Given the description of an element on the screen output the (x, y) to click on. 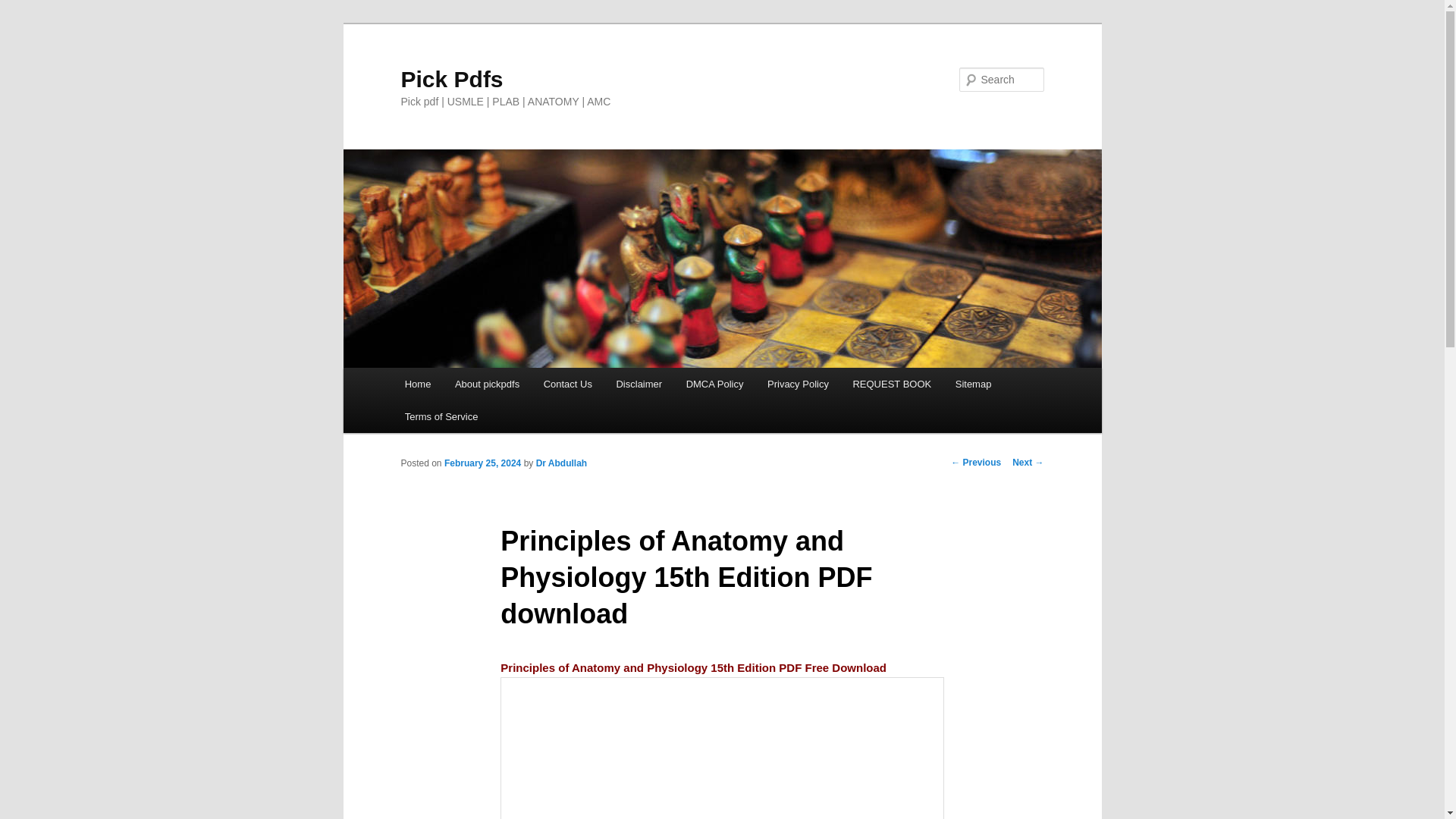
Dr Abdullah (561, 462)
Search (24, 8)
Privacy Policy (797, 383)
February 25, 2024 (482, 462)
Sitemap (973, 383)
Home (417, 383)
REQUEST BOOK (892, 383)
View all posts by Dr Abdullah (561, 462)
About pickpdfs (486, 383)
DMCA Policy (714, 383)
Pick Pdfs (451, 78)
Disclaimer (639, 383)
12:28 pm (482, 462)
Contact Us (567, 383)
